Given the description of an element on the screen output the (x, y) to click on. 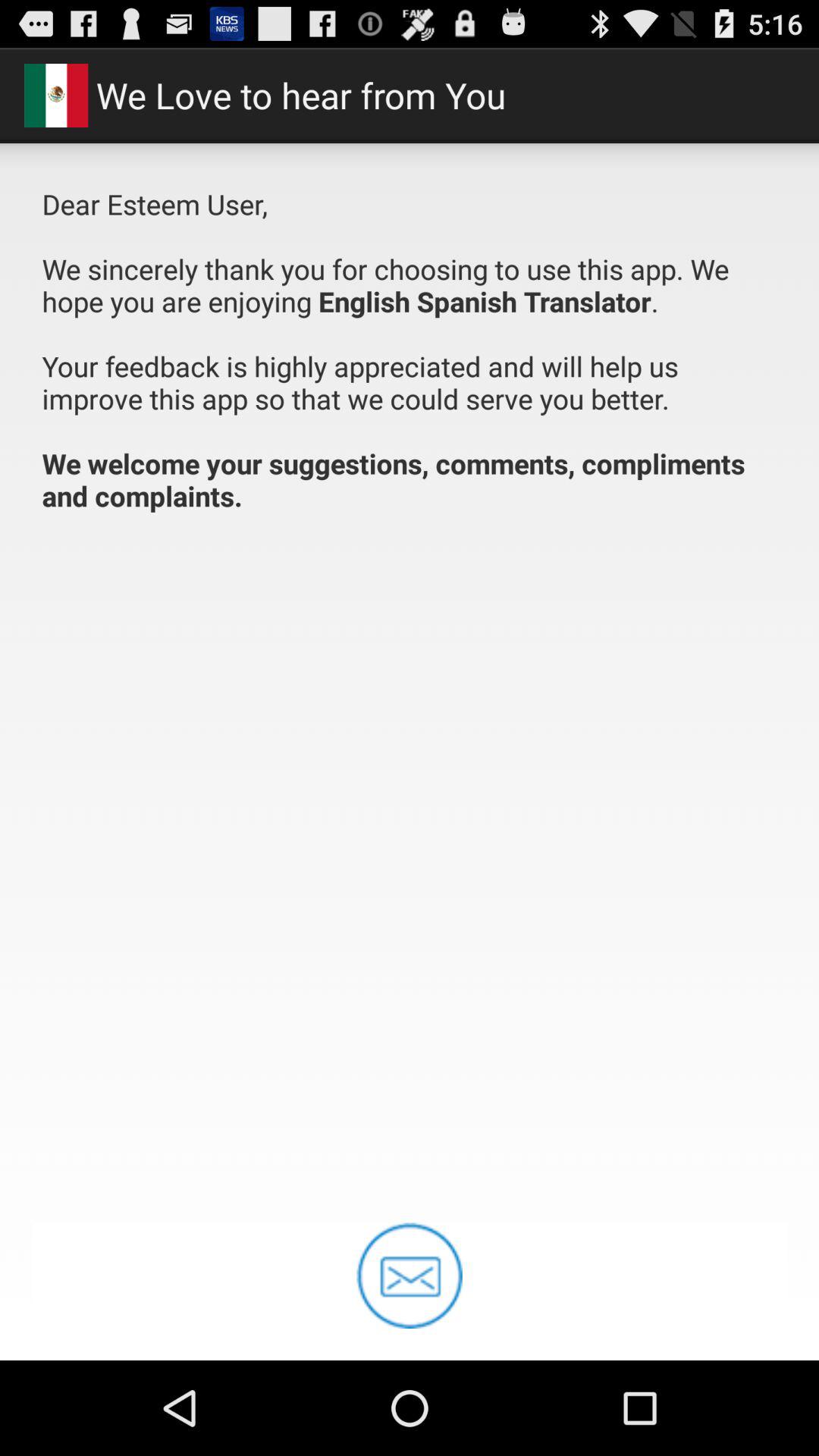
message icon (409, 1275)
